Given the description of an element on the screen output the (x, y) to click on. 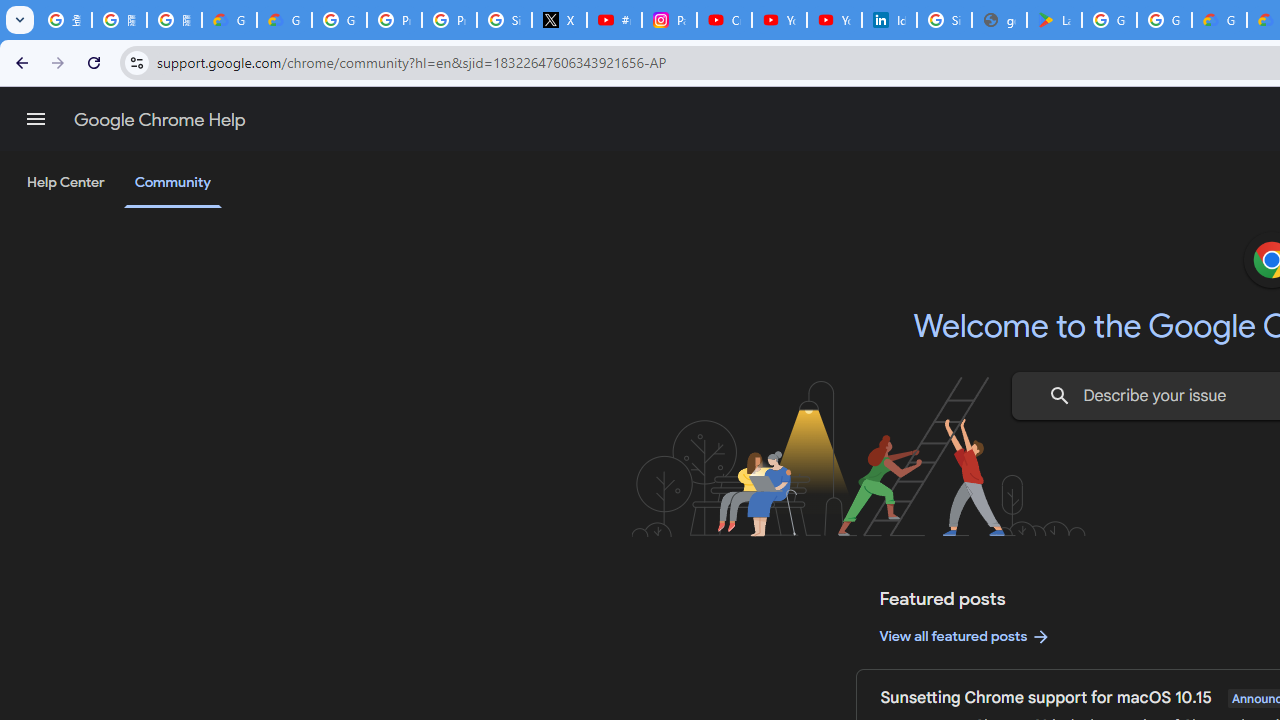
Google Chrome Help (159, 119)
Privacy Help Center - Policies Help (394, 20)
Last Shelter: Survival - Apps on Google Play (1053, 20)
#nbabasketballhighlights - YouTube (614, 20)
